Given the description of an element on the screen output the (x, y) to click on. 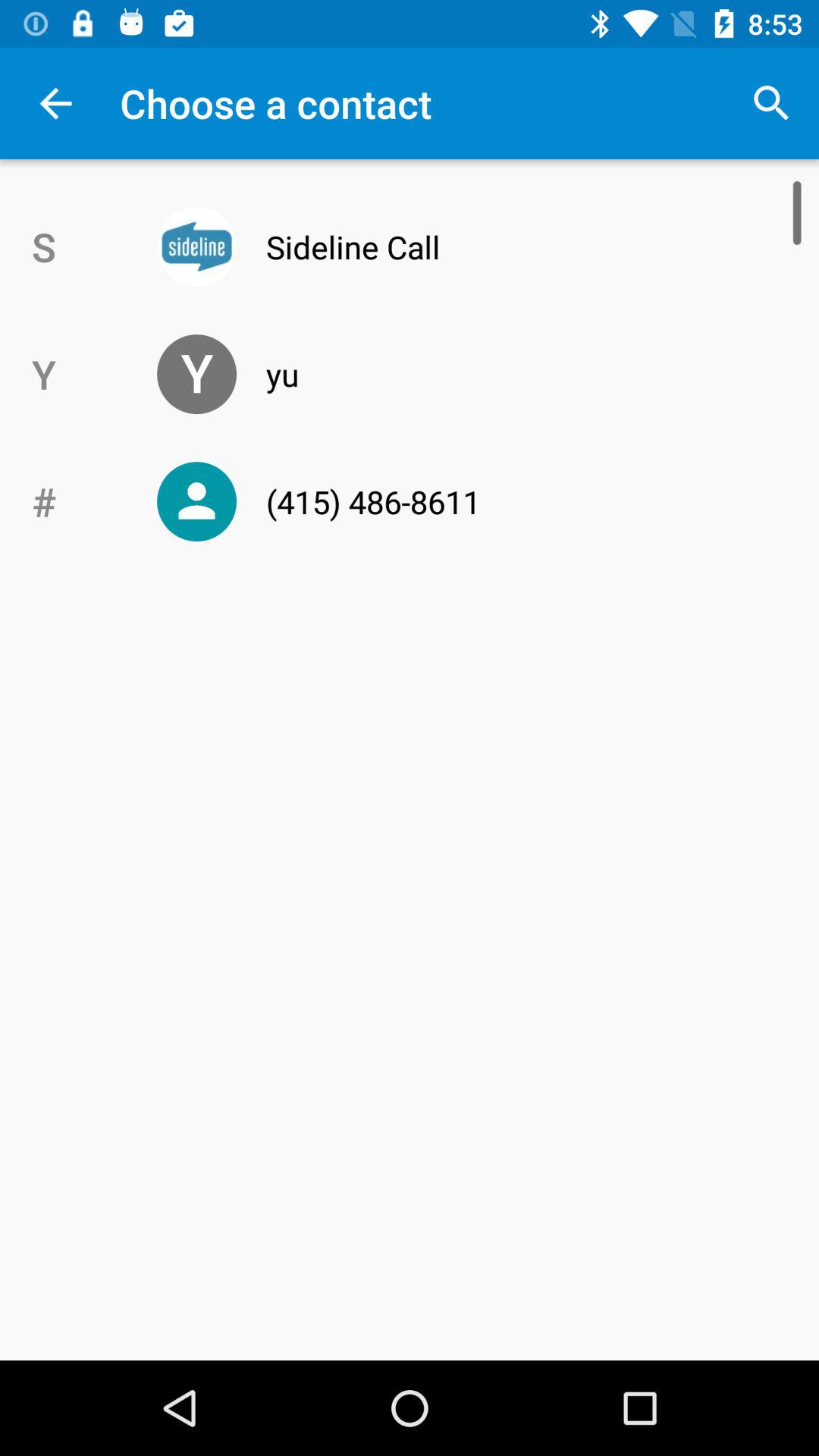
tap icon at the top right corner (771, 103)
